Given the description of an element on the screen output the (x, y) to click on. 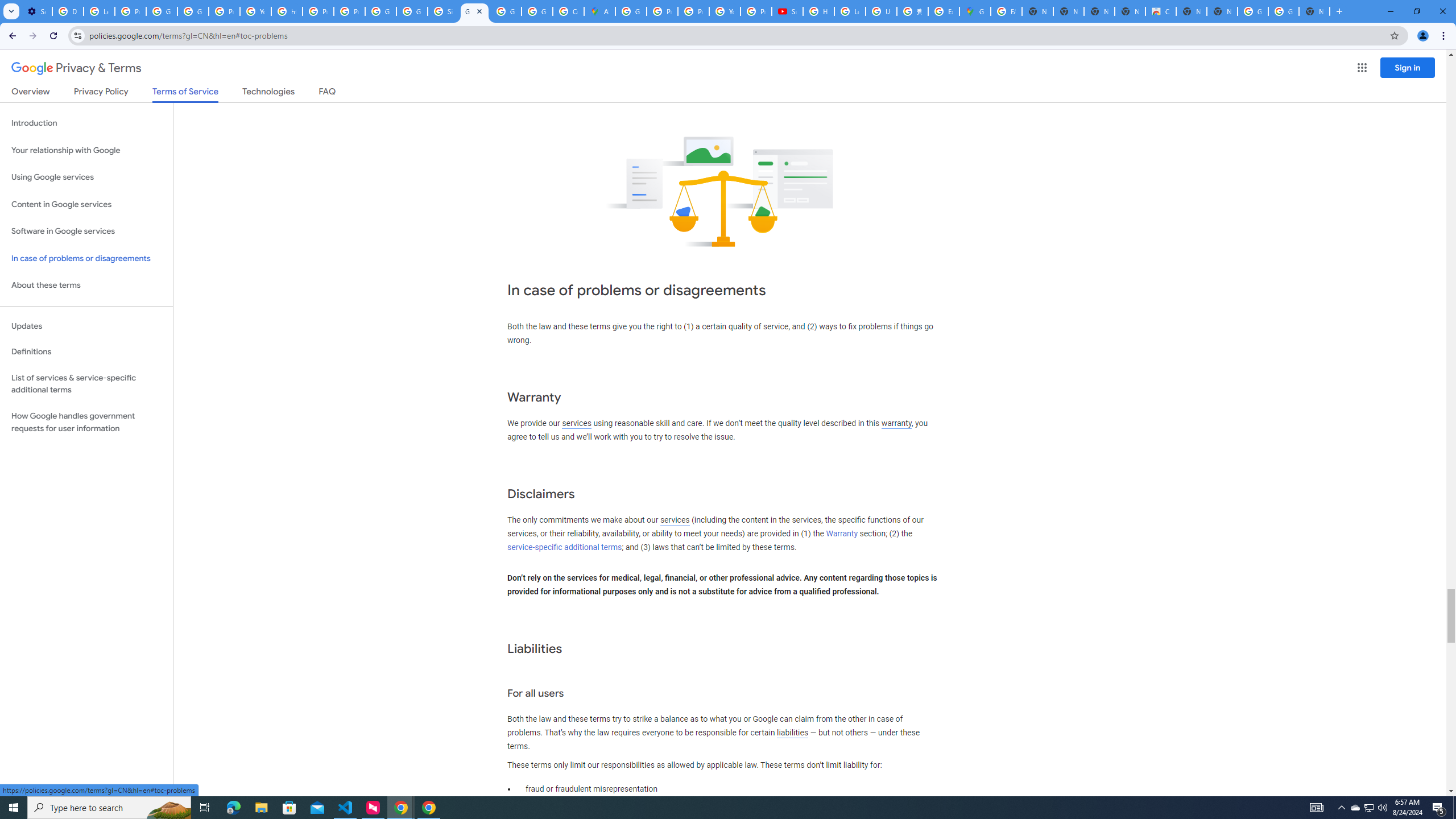
https://scholar.google.com/ (286, 11)
Learn how to find your photos - Google Photos Help (98, 11)
